Given the description of an element on the screen output the (x, y) to click on. 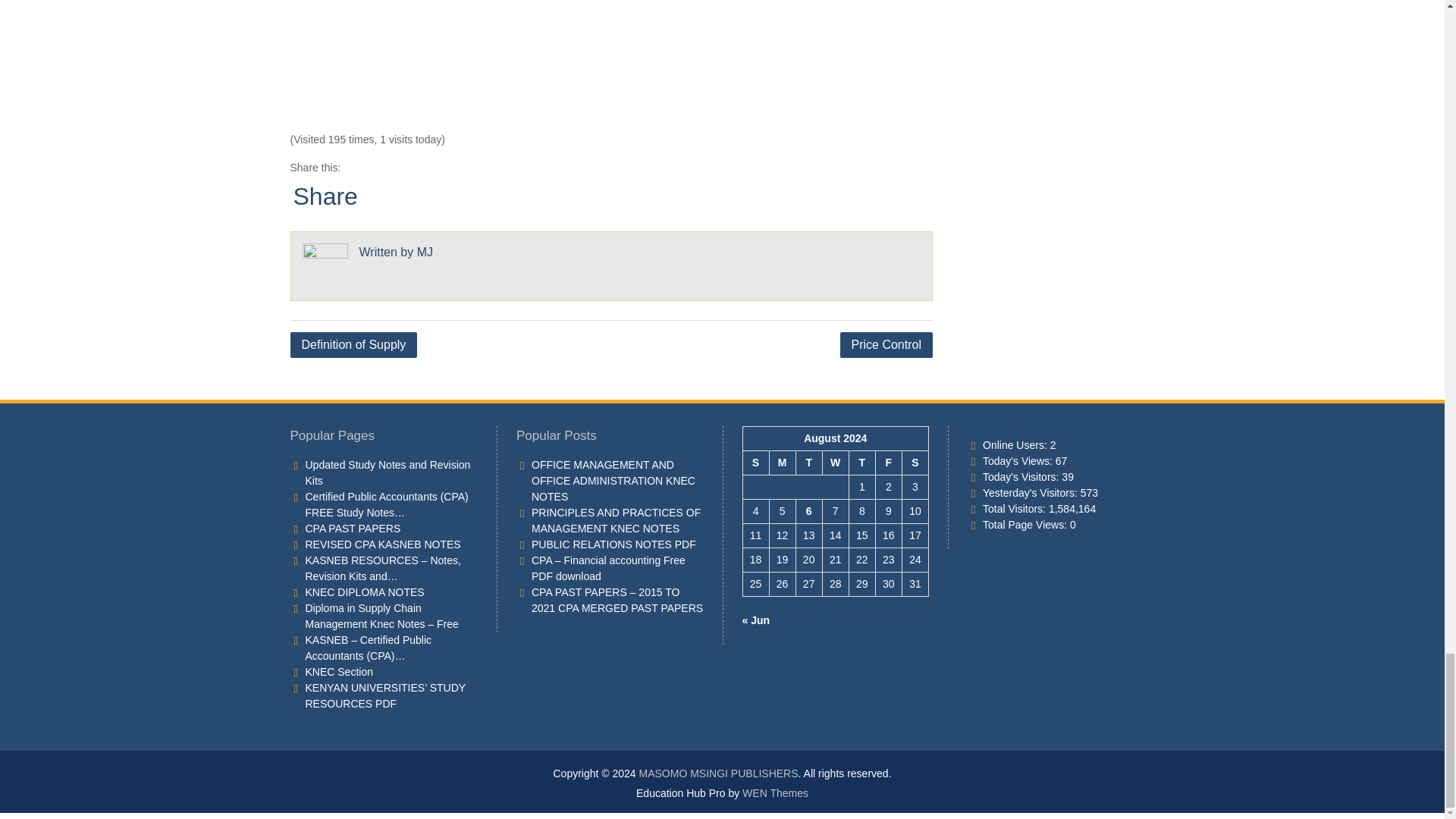
Wednesday (835, 463)
Saturday (914, 463)
Monday (781, 463)
Tuesday (808, 463)
Price Control (886, 344)
Friday (888, 463)
Thursday (861, 463)
Posts by MJ (424, 251)
Sunday (755, 463)
MJ (424, 251)
